Given the description of an element on the screen output the (x, y) to click on. 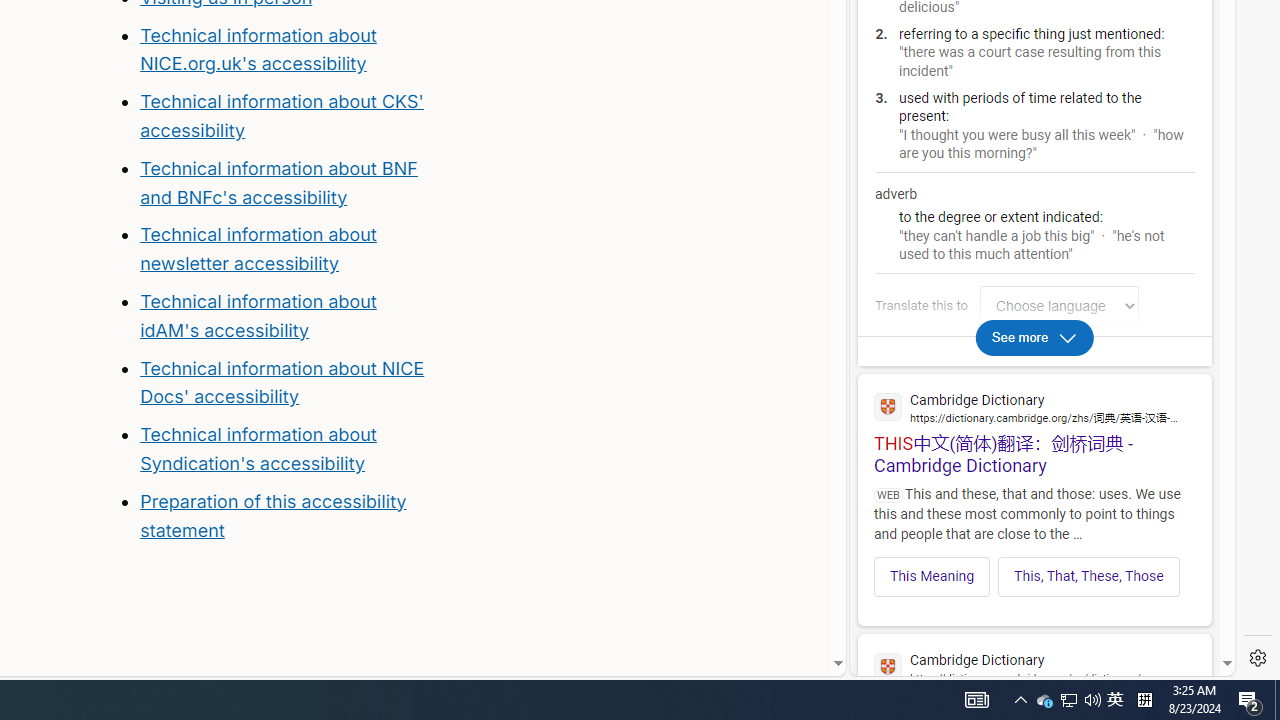
Translate this to Choose language (1059, 305)
This Meaning (932, 575)
